Given the description of an element on the screen output the (x, y) to click on. 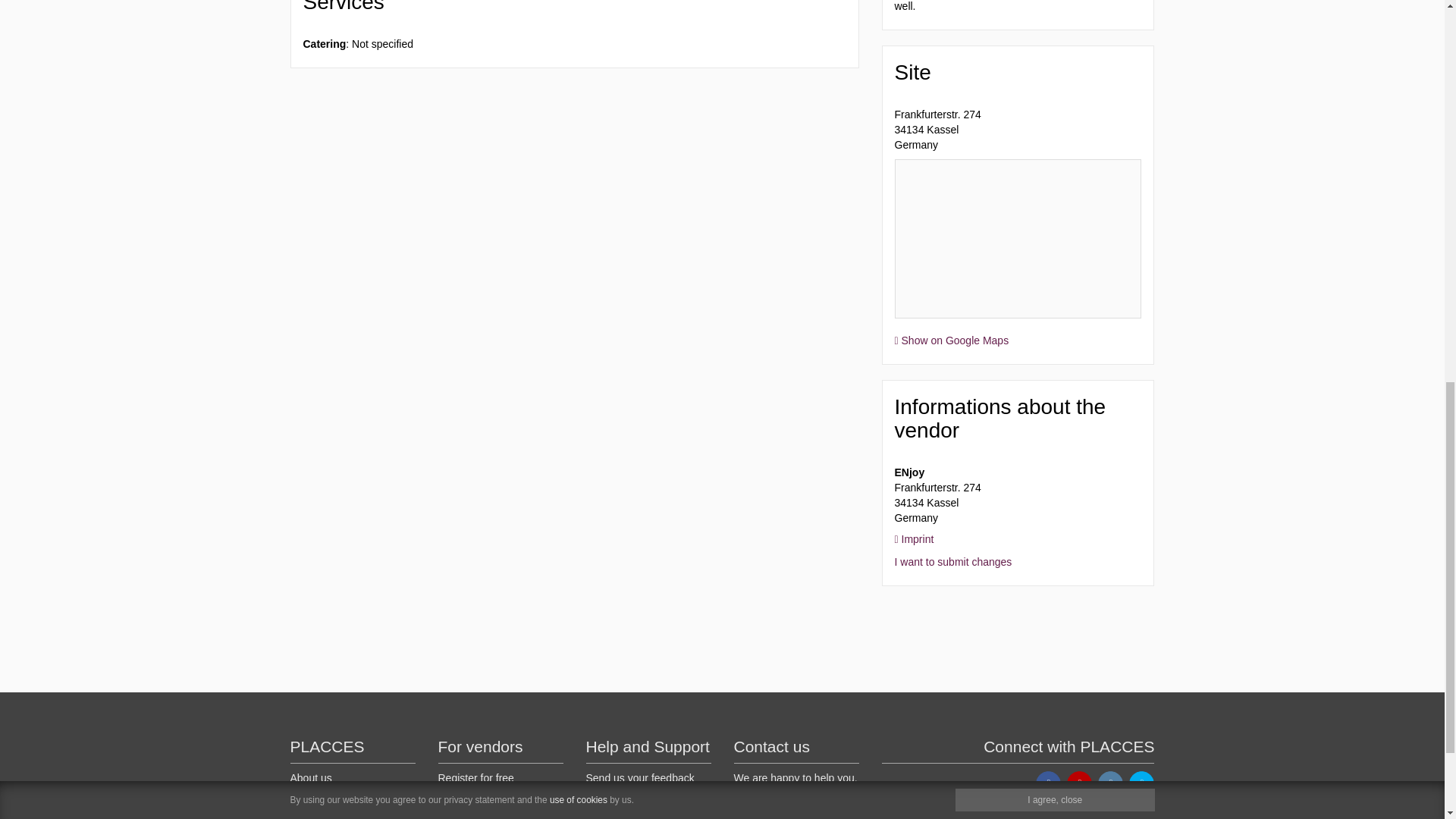
Send an e-mail to PLACCES (745, 814)
Visit PLACCES on Instagram (1109, 783)
I want to submit changes (953, 562)
Imprint (914, 539)
Show on Google Maps (952, 340)
Visit PLACCES on Twitter (1141, 783)
Visit PLACCES on Youtube (1079, 783)
About us (310, 777)
Visit PLACCES on Facebook (1048, 783)
